Given the description of an element on the screen output the (x, y) to click on. 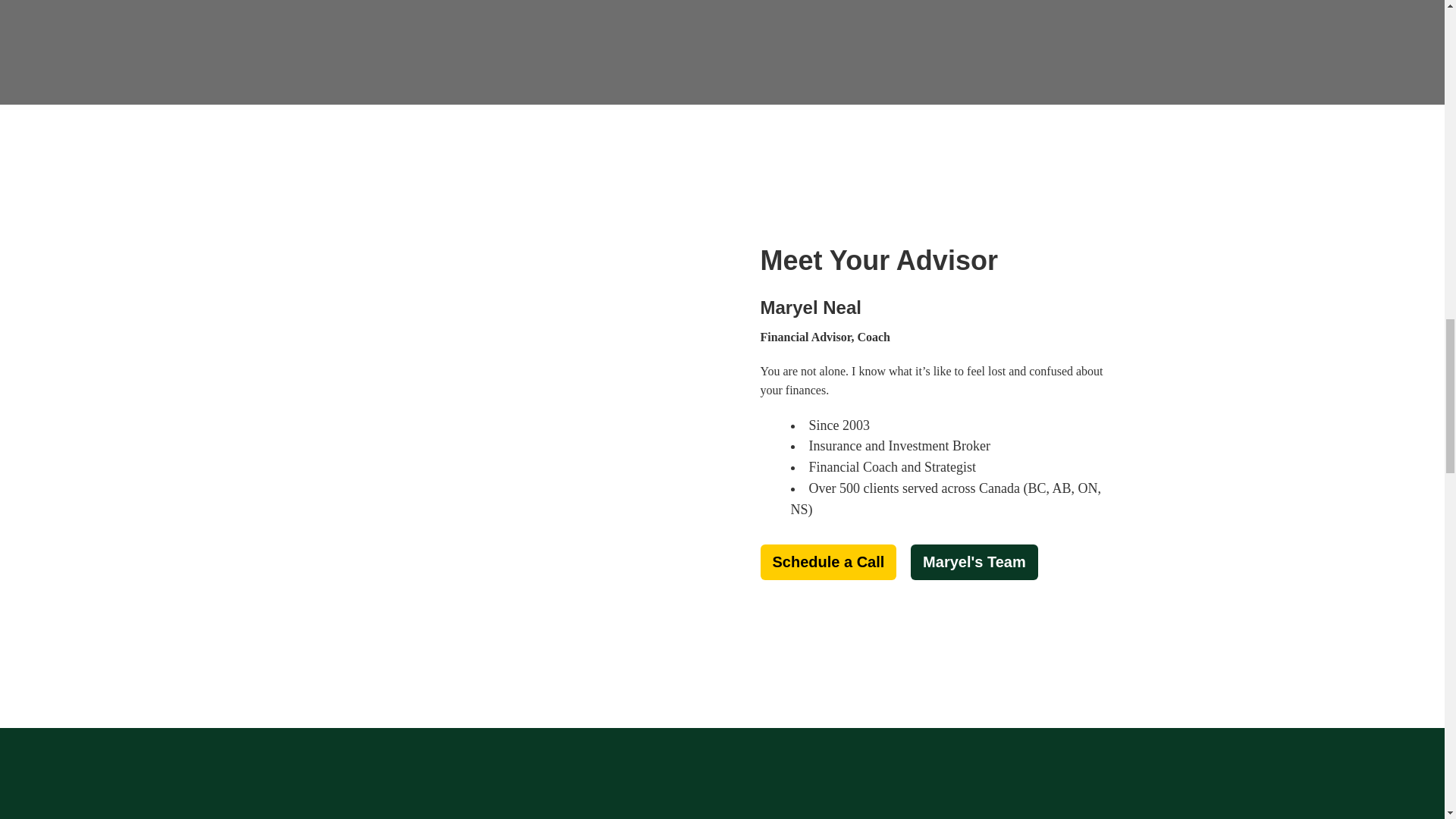
Schedule a Call (828, 561)
Page 5 (938, 424)
Maryel's Team (974, 561)
